Given the description of an element on the screen output the (x, y) to click on. 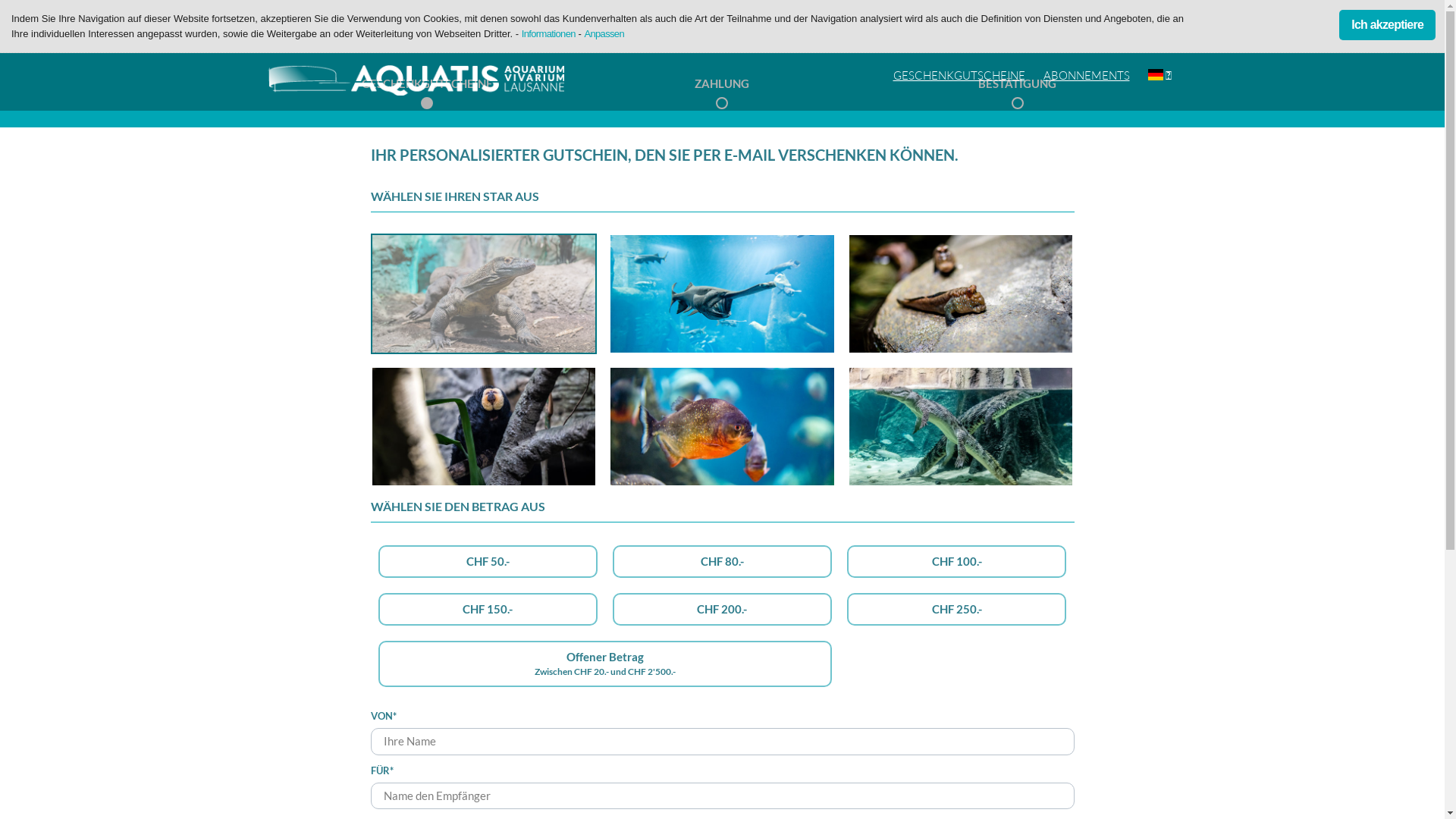
ABONNEMENTS Element type: text (1086, 76)
CHF 50.- Element type: text (486, 561)
Offener Betrag
Zwischen CHF 20.- und CHF 2'500.- Element type: text (604, 663)
CHF 250.- Element type: text (956, 609)
CHF 150.- Element type: text (486, 609)
Anpassen Element type: text (603, 32)
CHF 80.- Element type: text (721, 561)
CHF 200.- Element type: text (721, 609)
CHF 100.- Element type: text (956, 561)
GESCHENKGUTSCHEINE Element type: text (959, 76)
Ich akzeptiere Element type: text (1387, 24)
Informationen Element type: text (548, 32)
